Given the description of an element on the screen output the (x, y) to click on. 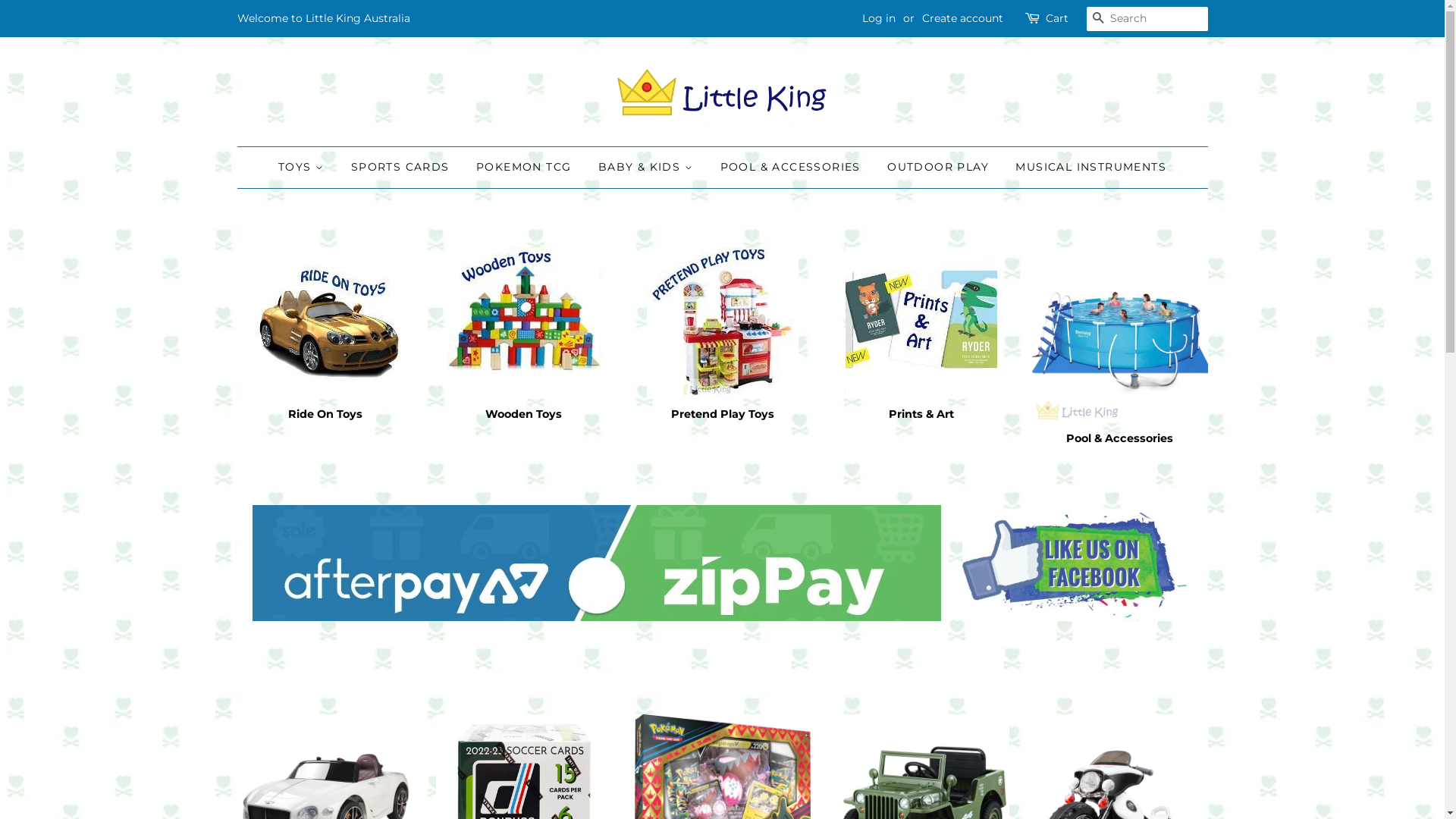
POOL & ACCESSORIES Element type: text (790, 167)
Pool & Accessories Element type: text (1119, 359)
OUTDOOR PLAY Element type: text (937, 167)
SEARCH Element type: text (1097, 18)
TOYS Element type: text (306, 167)
MUSICAL INSTRUMENTS Element type: text (1085, 167)
Ride On Toys Element type: text (324, 347)
Wooden Toys Element type: text (523, 347)
Cart Element type: text (1055, 18)
Create account Element type: text (962, 18)
Log in Element type: text (877, 18)
SPORTS CARDS Element type: text (400, 167)
Pretend Play Toys Element type: text (721, 347)
POKEMON TCG Element type: text (523, 167)
BABY & KIDS Element type: text (645, 167)
Prints & Art Element type: text (920, 347)
